Given the description of an element on the screen output the (x, y) to click on. 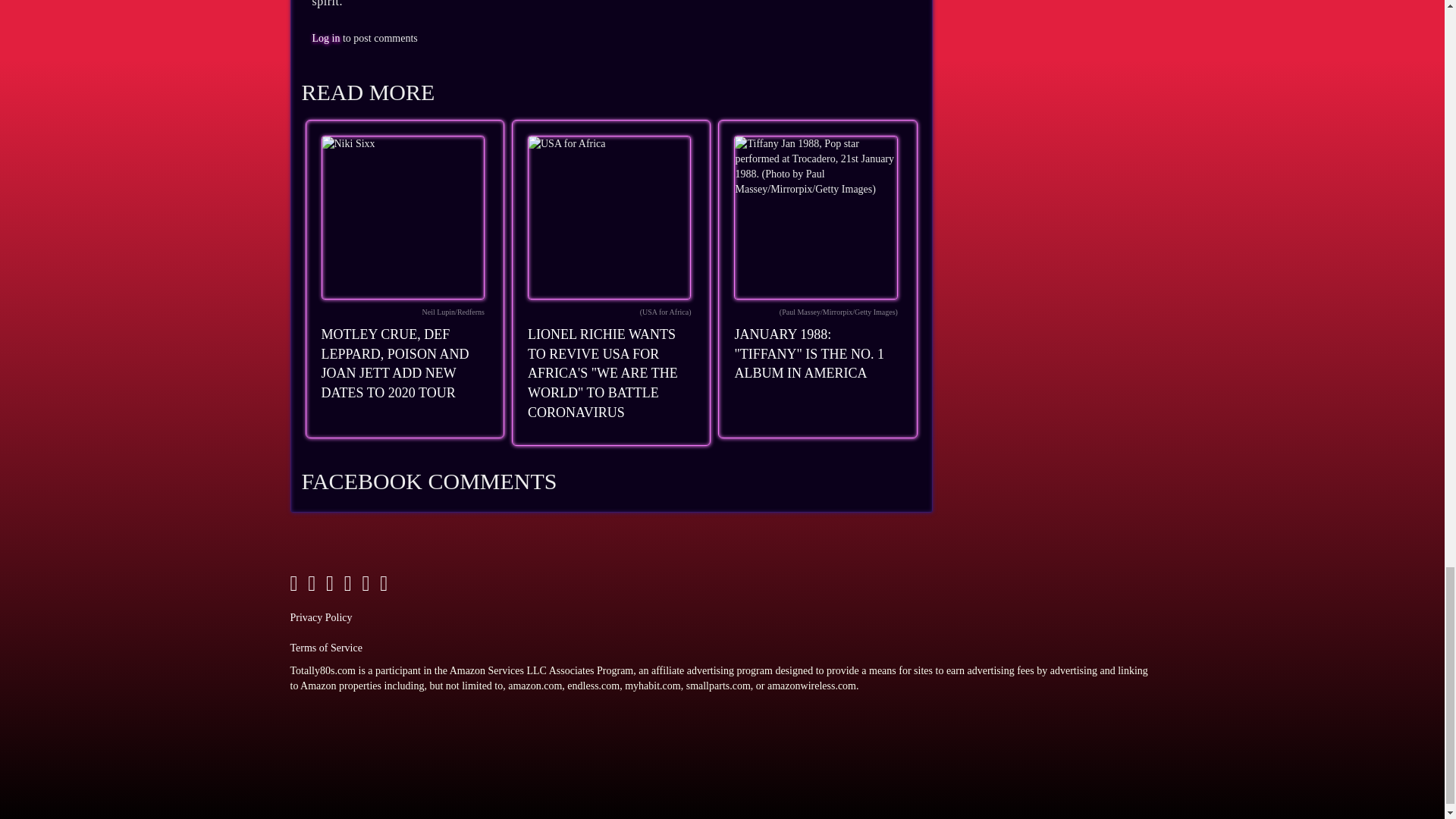
Log in (326, 38)
JANUARY 1988: "TIFFANY" IS THE NO. 1 ALBUM IN AMERICA (808, 353)
